Given the description of an element on the screen output the (x, y) to click on. 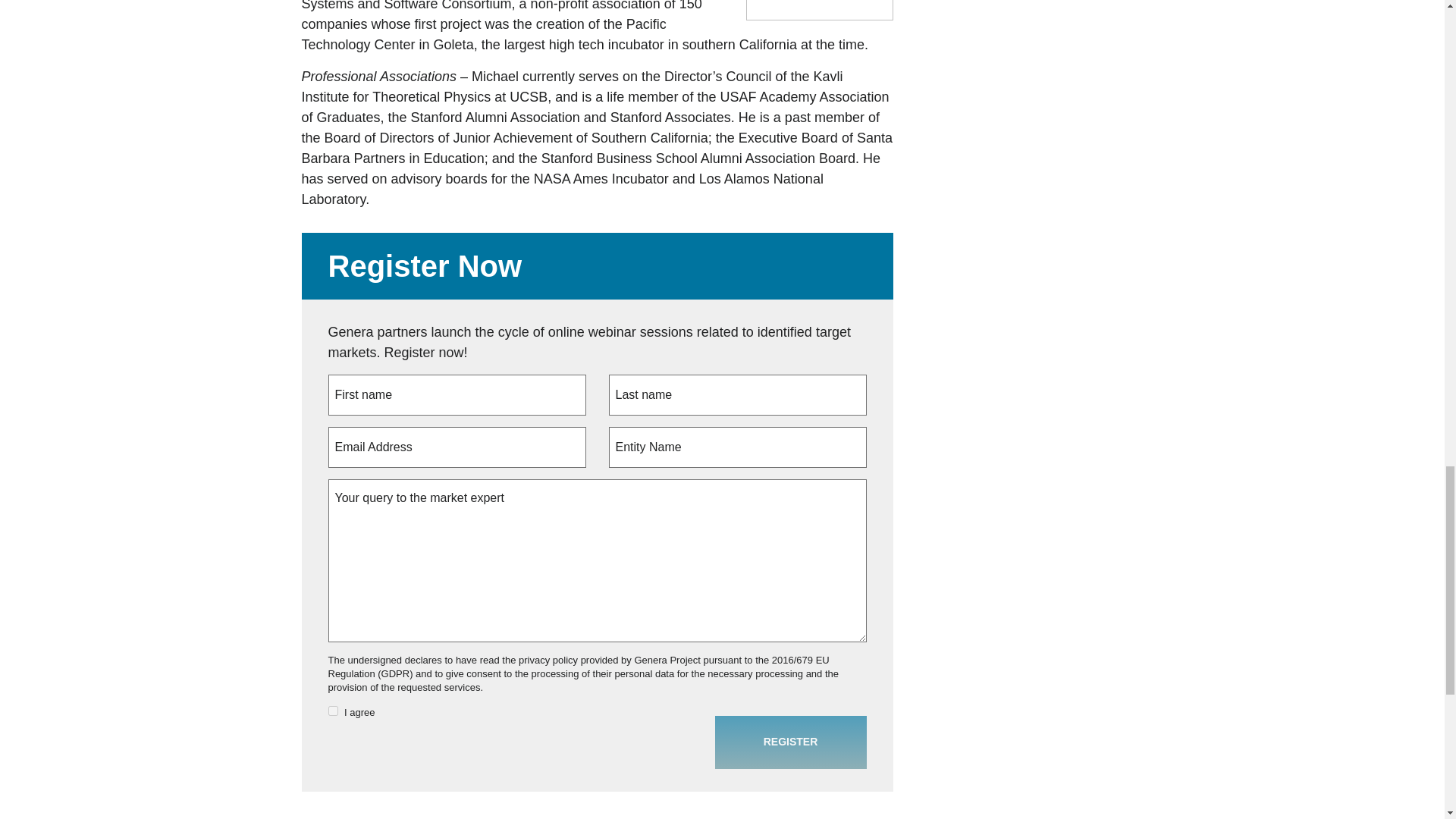
1 (332, 710)
Entity Name (737, 446)
Email Address (456, 446)
Last name (737, 394)
First name (456, 394)
Register (790, 742)
Register (790, 742)
